Given the description of an element on the screen output the (x, y) to click on. 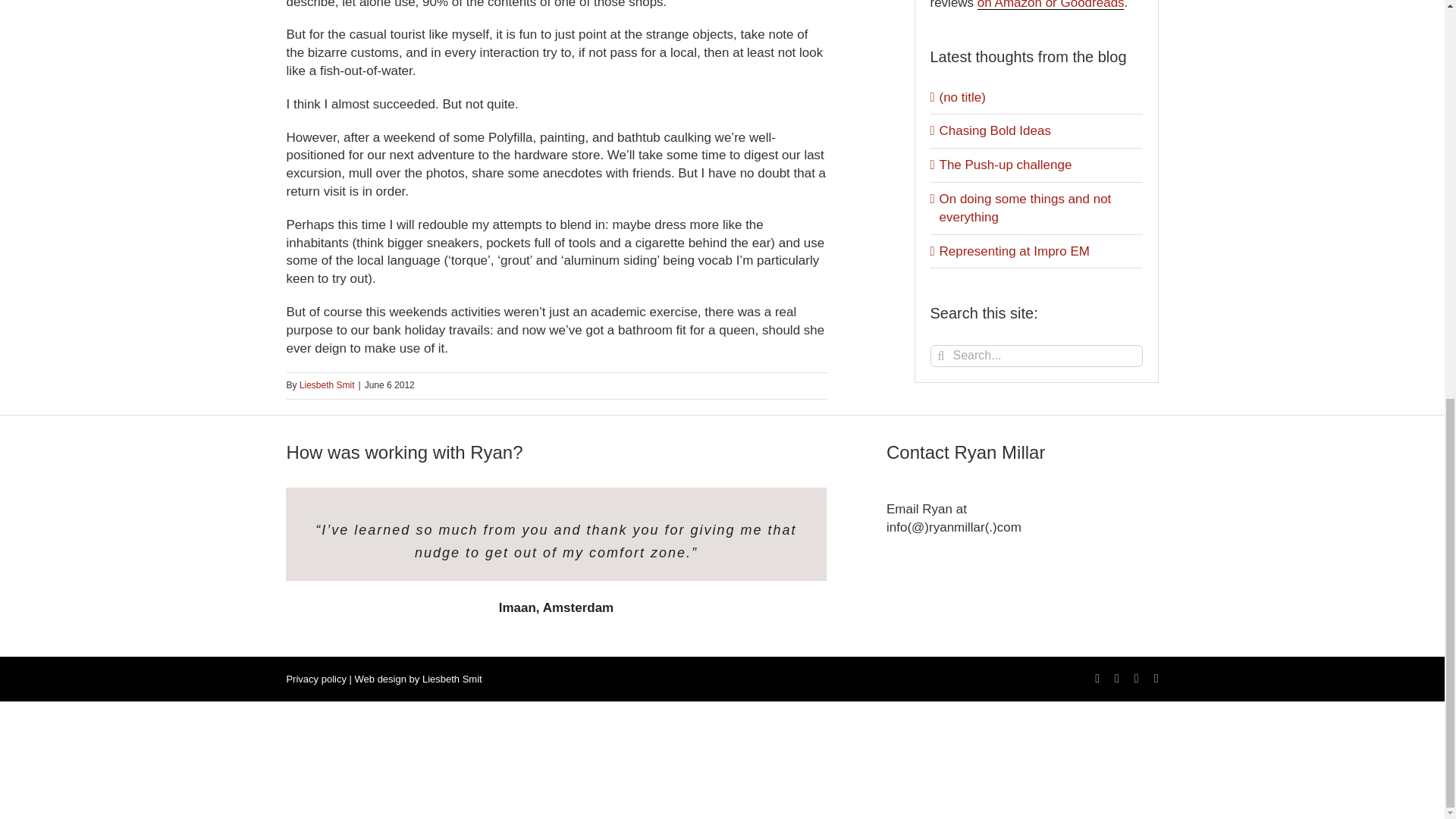
On doing some things and not everything (1024, 207)
Representing at Impro EM (1014, 251)
Liesbeth Smit - Making Science Sexy (451, 678)
Privacy policy (315, 678)
Posts by Liesbeth Smit (327, 385)
on Amazon or Goodreads (1050, 4)
Liesbeth Smit (451, 678)
Liesbeth Smit (327, 385)
The Push-up challenge (1005, 164)
Chasing Bold Ideas (994, 130)
